Given the description of an element on the screen output the (x, y) to click on. 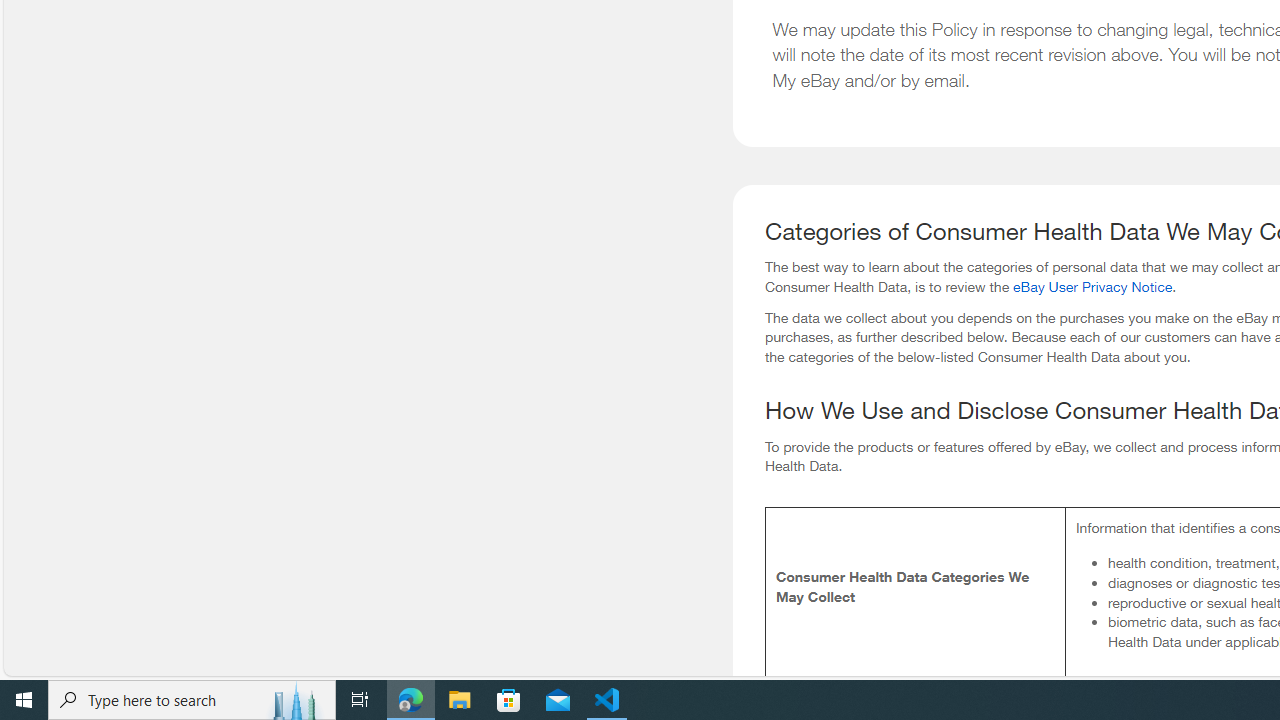
eBay User Privacy Notice (1092, 286)
